Given the description of an element on the screen output the (x, y) to click on. 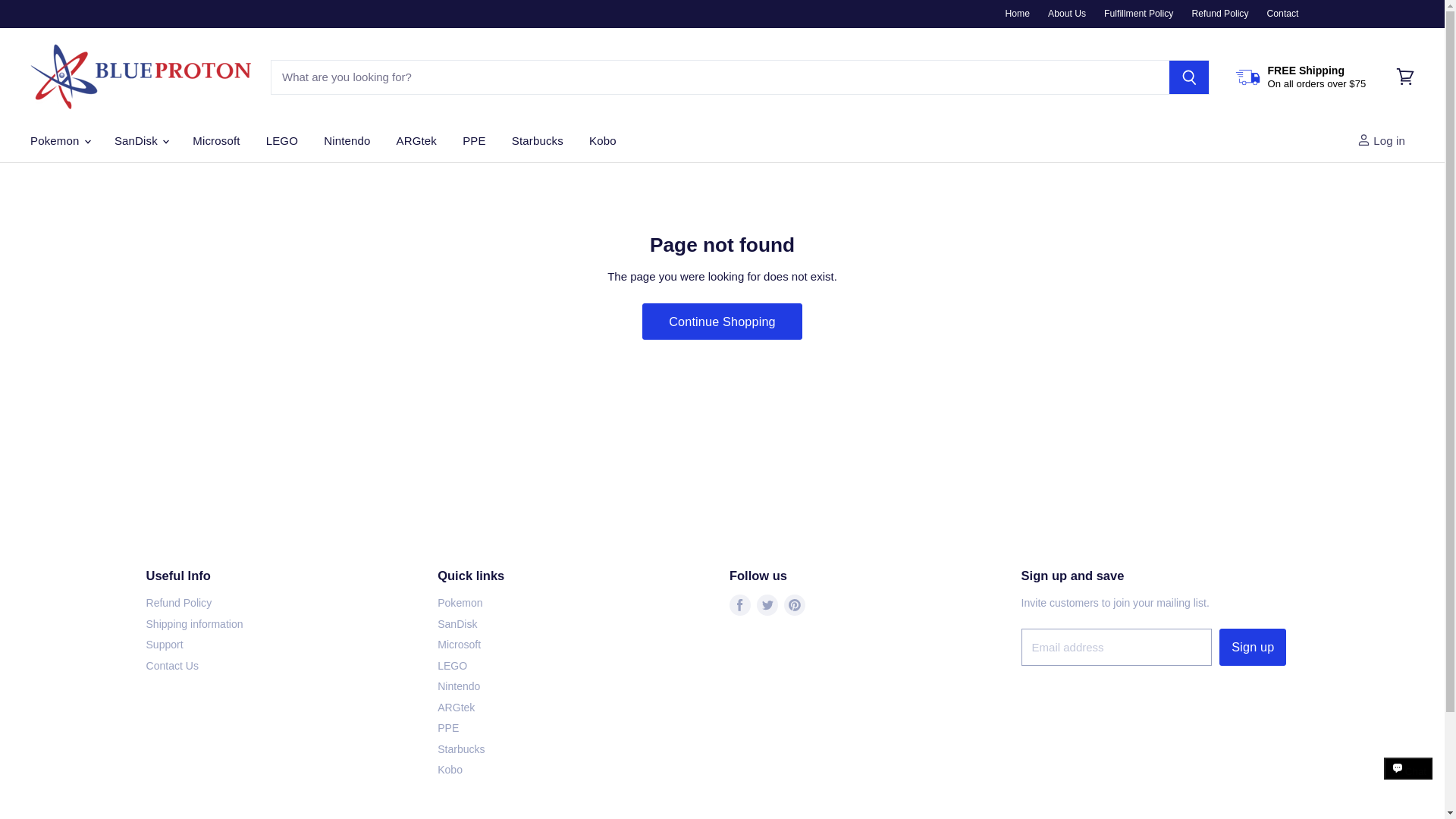
ARGtek (416, 140)
Fulfillment Policy (1138, 13)
Microsoft (215, 140)
View cart (1405, 77)
Refund Policy (1219, 13)
Pinterest (794, 605)
Account icon (1363, 139)
Home (1017, 13)
Nintendo (347, 140)
Pokemon (59, 140)
